Given the description of an element on the screen output the (x, y) to click on. 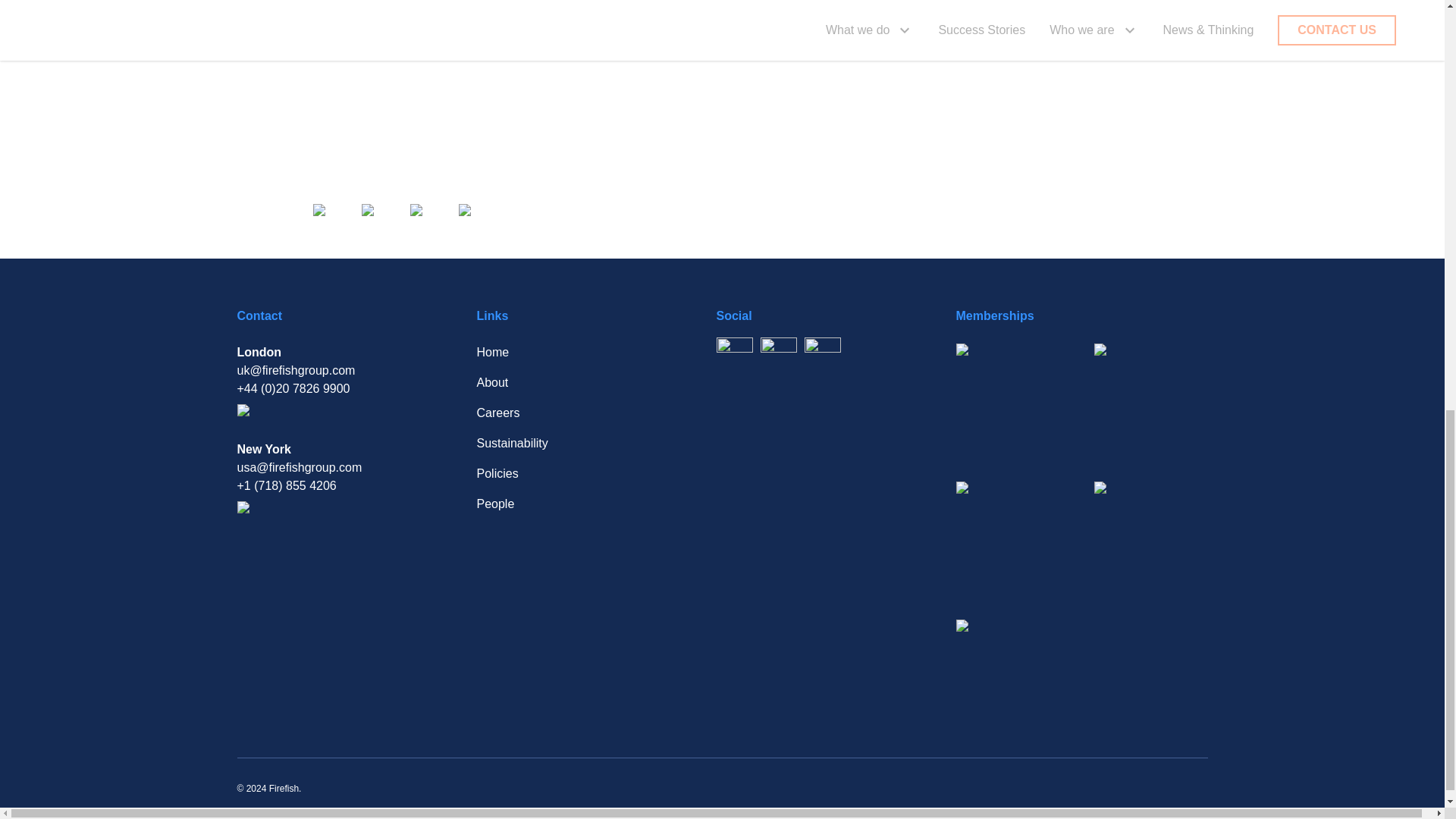
Policies (574, 474)
Sustainability (574, 443)
Careers (574, 413)
About (574, 382)
Home (574, 352)
